Given the description of an element on the screen output the (x, y) to click on. 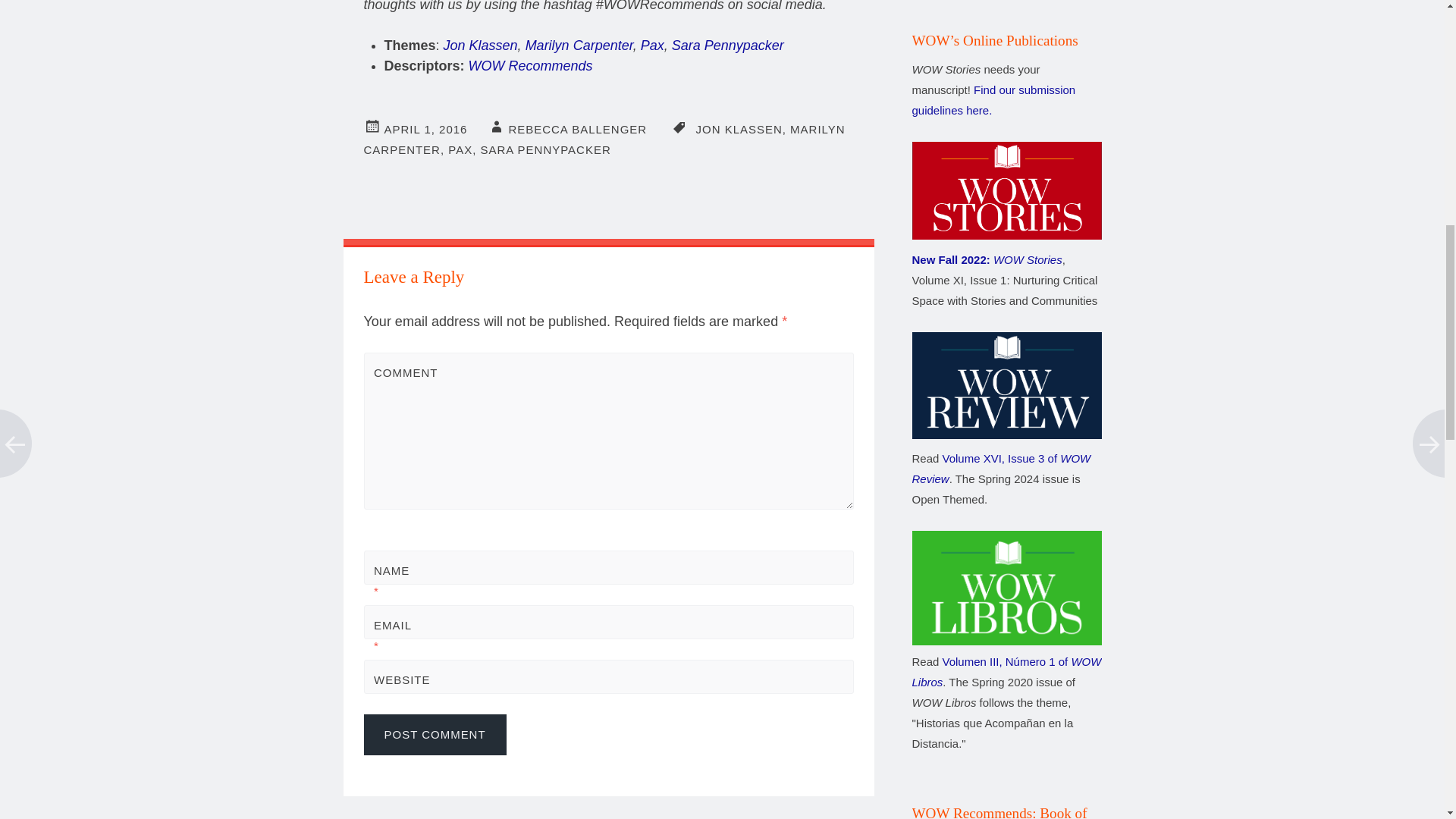
Post Comment (435, 734)
View all posts by Rebecca Ballenger (577, 128)
5:00 am (425, 128)
